Given the description of an element on the screen output the (x, y) to click on. 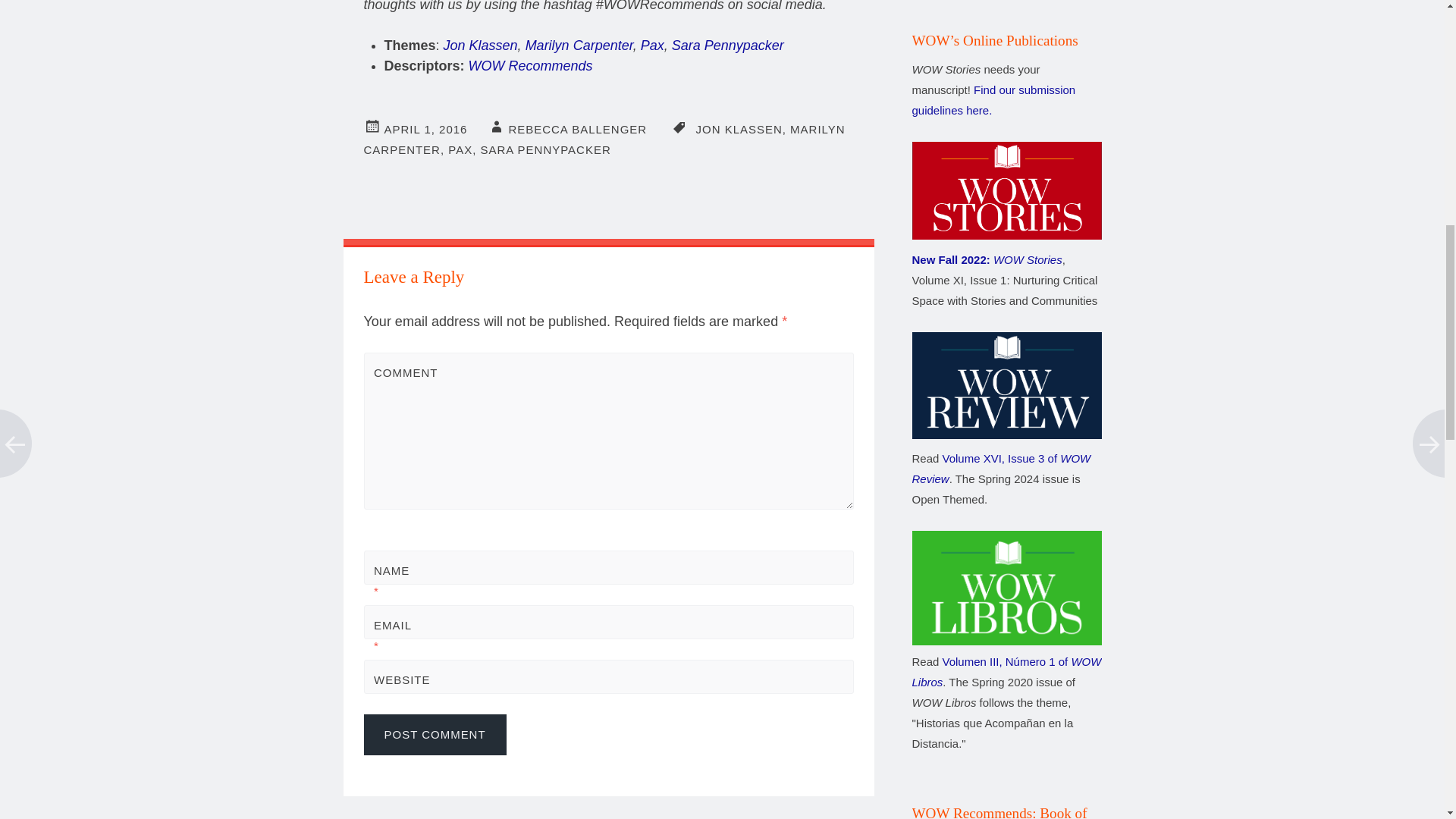
Post Comment (435, 734)
View all posts by Rebecca Ballenger (577, 128)
5:00 am (425, 128)
